Given the description of an element on the screen output the (x, y) to click on. 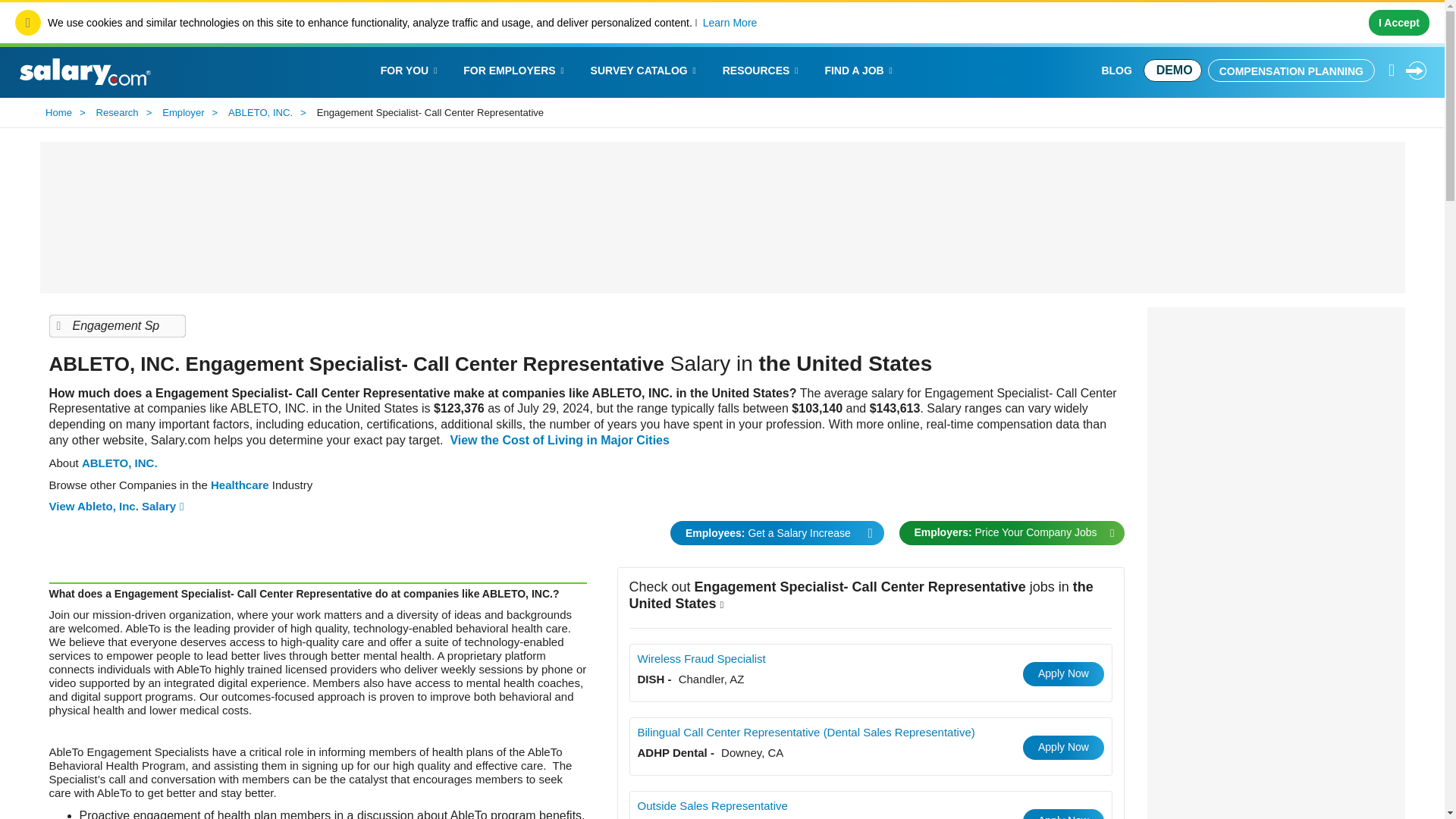
ABLETO, INC. (263, 113)
View Ableto, Inc. Salary (115, 506)
ABLETO, INC. (119, 462)
Employers: Price Your Company Jobs (1011, 532)
Wireless Fraud Specialist (701, 658)
Apply Now (1063, 672)
FOR EMPLOYERS (514, 70)
Engagement Specialist- Call Center Representative (116, 325)
FIND A JOB (859, 70)
Employees: Get a Salary Increase (776, 532)
